Given the description of an element on the screen output the (x, y) to click on. 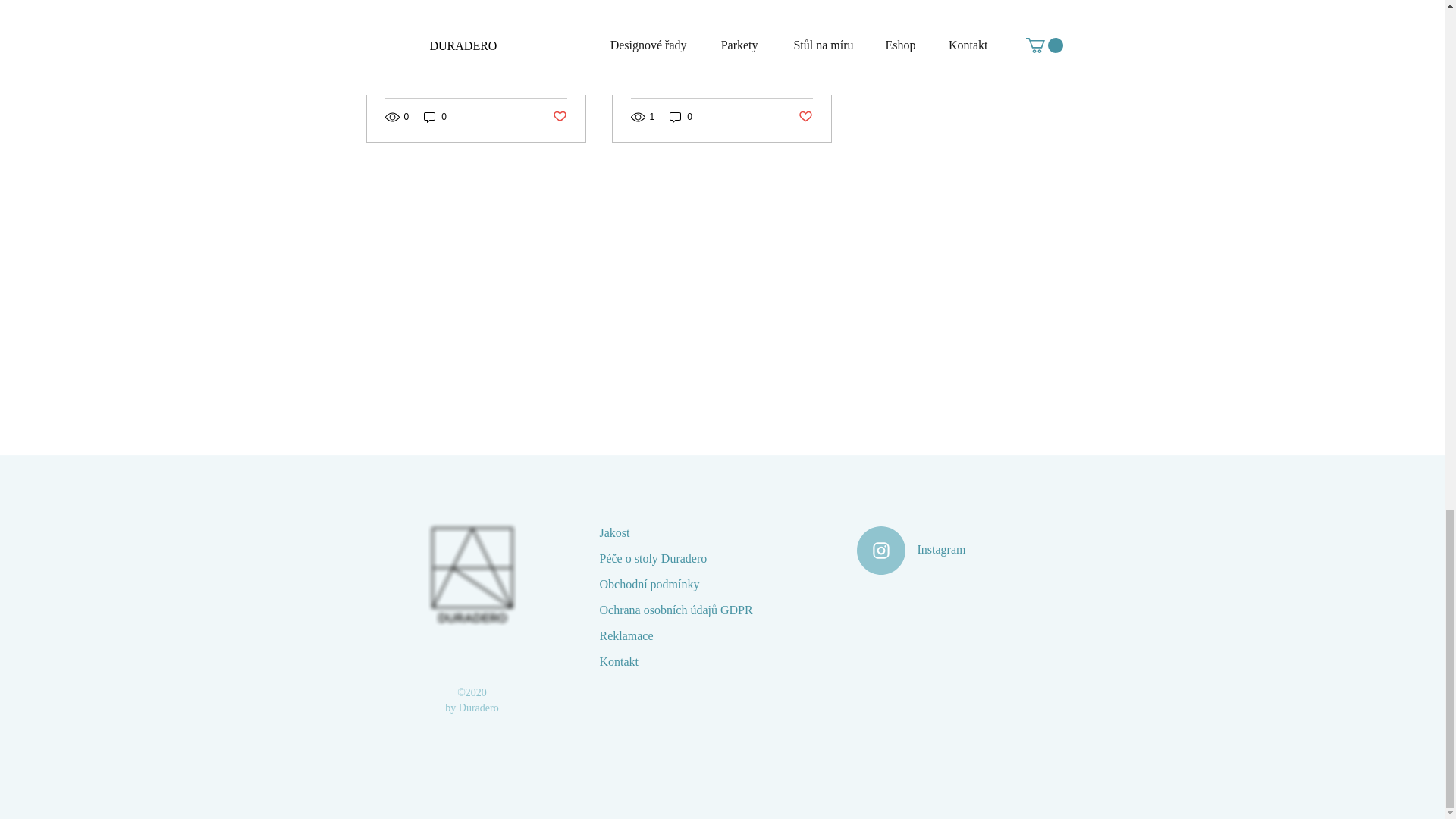
0 (435, 116)
Working with leather: it's easier than you think (721, 63)
Jakost (613, 532)
The top 12 ground rules each artisan should live by (476, 63)
Kontakt (618, 661)
Instagram (941, 549)
0 (681, 116)
Reklamace (625, 635)
